Given the description of an element on the screen output the (x, y) to click on. 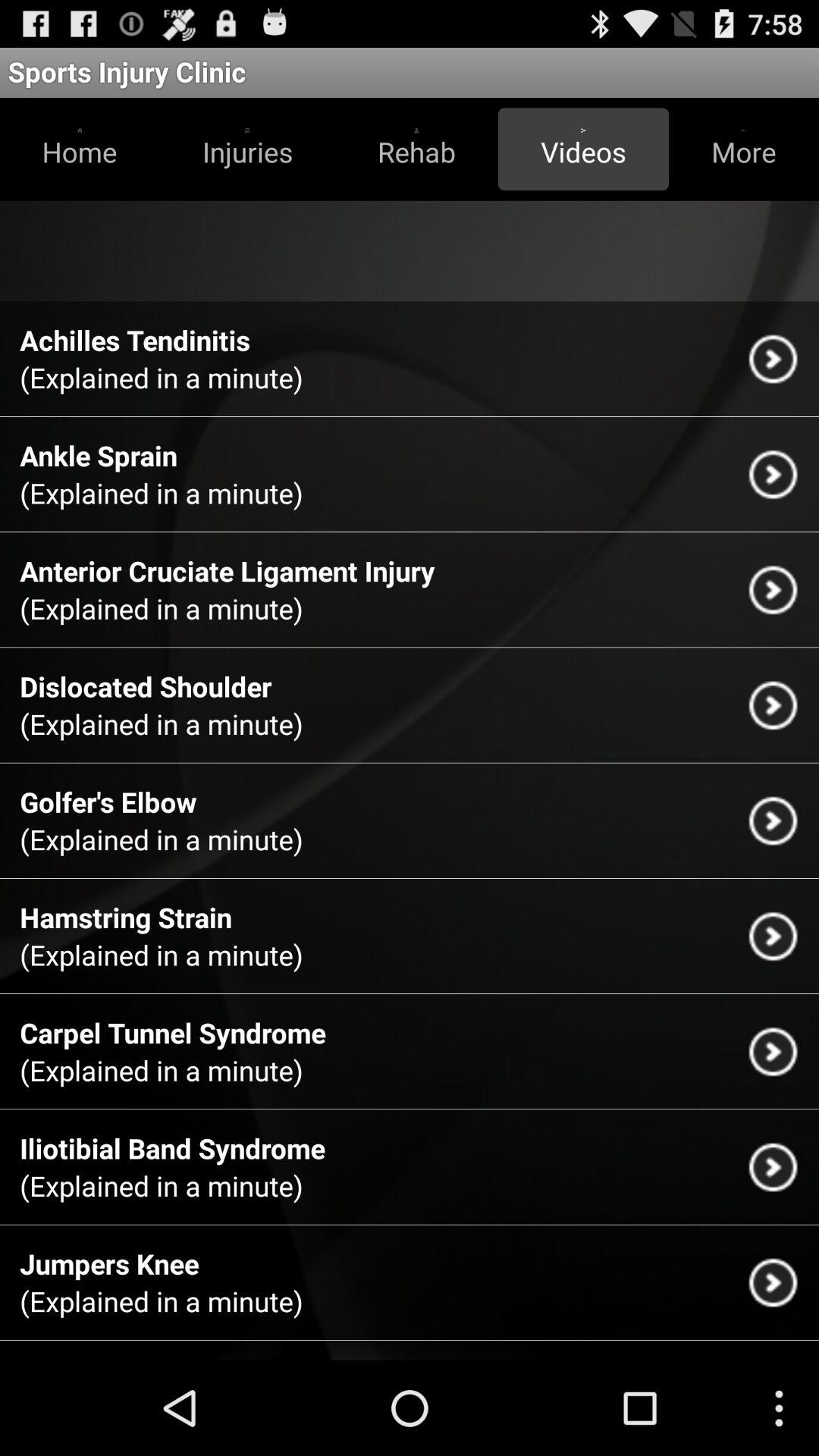
select the icon below the sports injury clinic (416, 149)
